Given the description of an element on the screen output the (x, y) to click on. 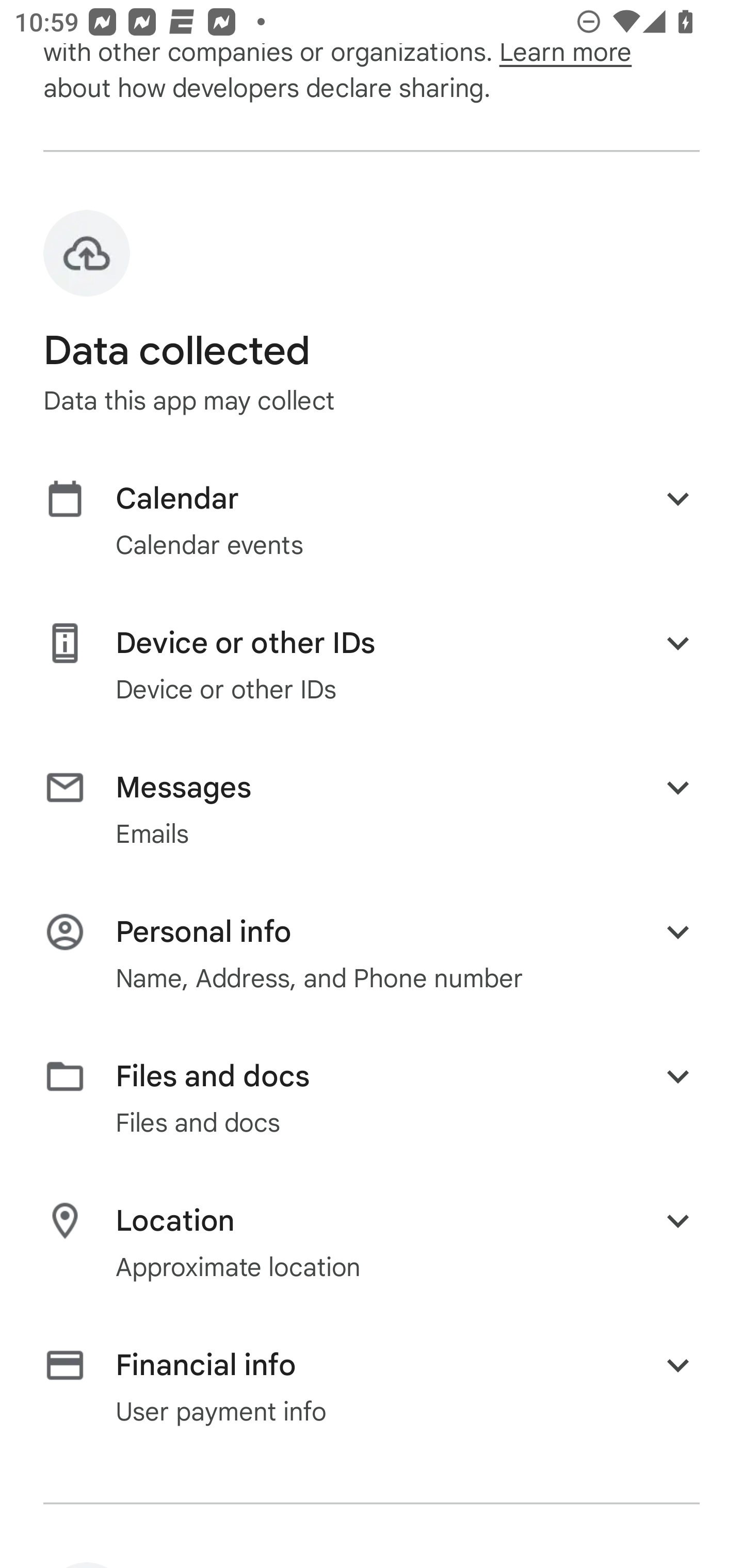
heading Calendar Calendar events Expand button (371, 520)
heading Messages Emails Expand button (371, 808)
